Given the description of an element on the screen output the (x, y) to click on. 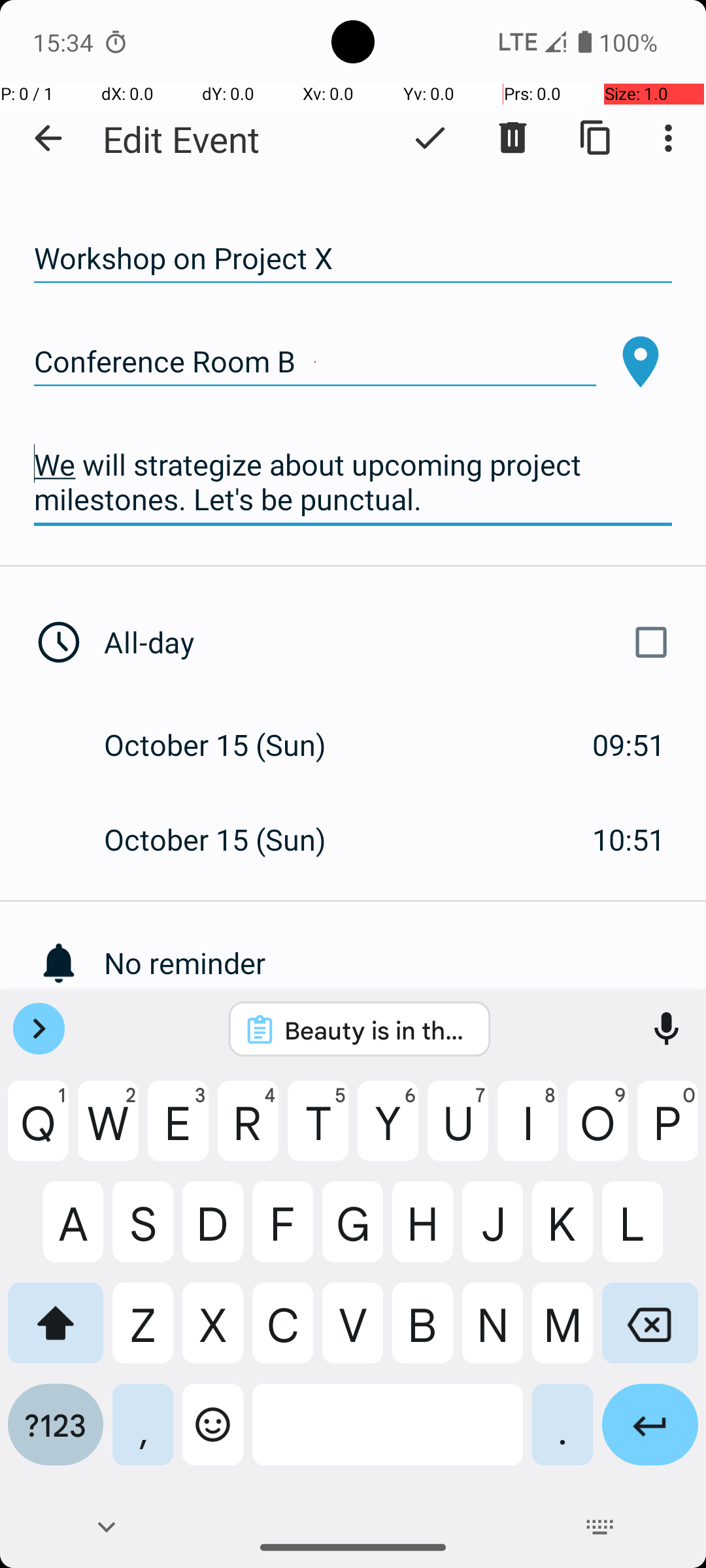
Conference Room B Element type: android.widget.EditText (314, 361)
We will strategize about upcoming project milestones. Let's be punctual. Element type: android.widget.EditText (352, 482)
09:51 Element type: android.widget.TextView (628, 744)
10:51 Element type: android.widget.TextView (628, 838)
Beauty is in the eye of the beholder. Element type: android.widget.TextView (376, 1029)
